Given the description of an element on the screen output the (x, y) to click on. 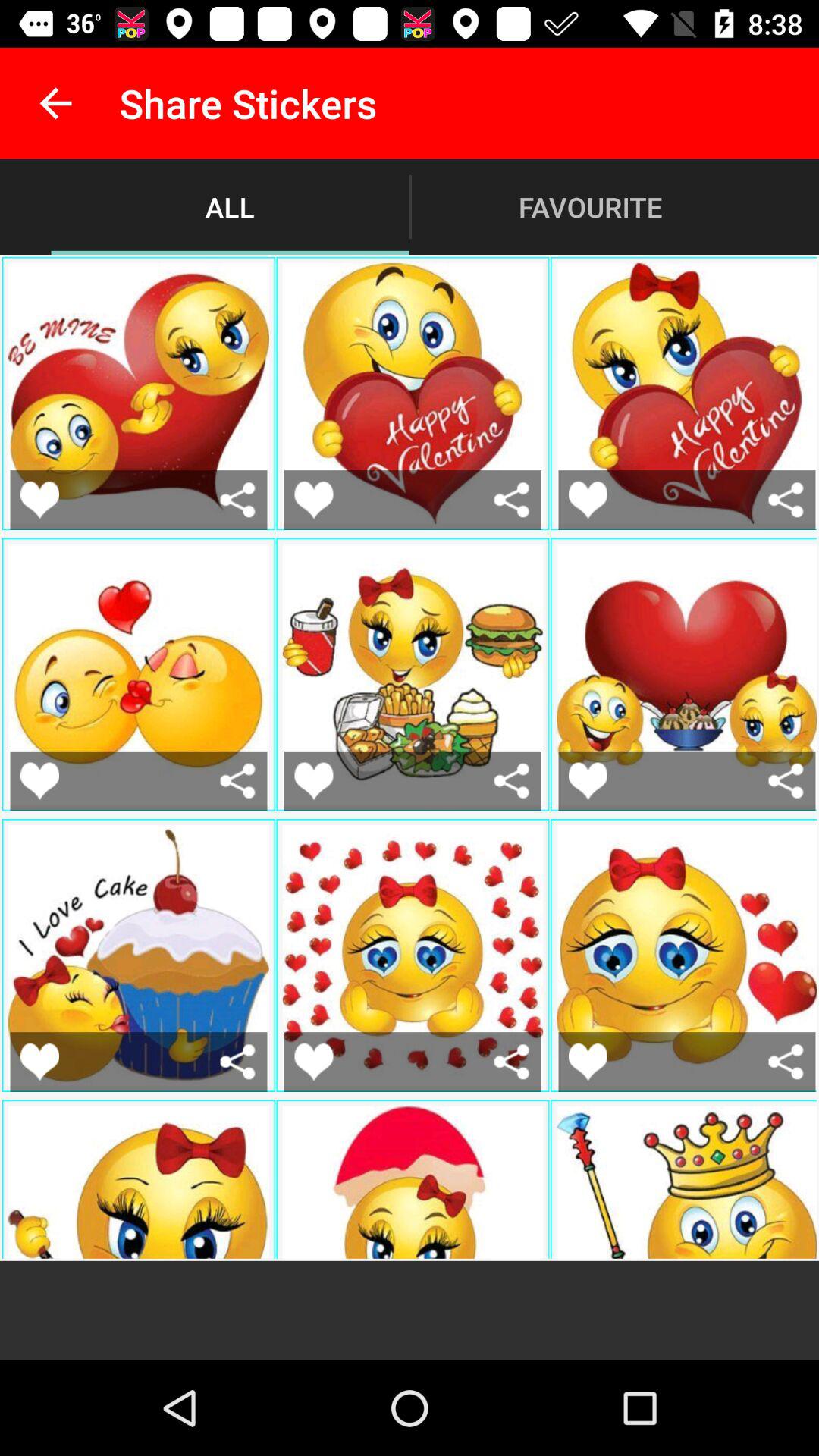
favorite the emoji with fast food sticker (313, 780)
